Given the description of an element on the screen output the (x, y) to click on. 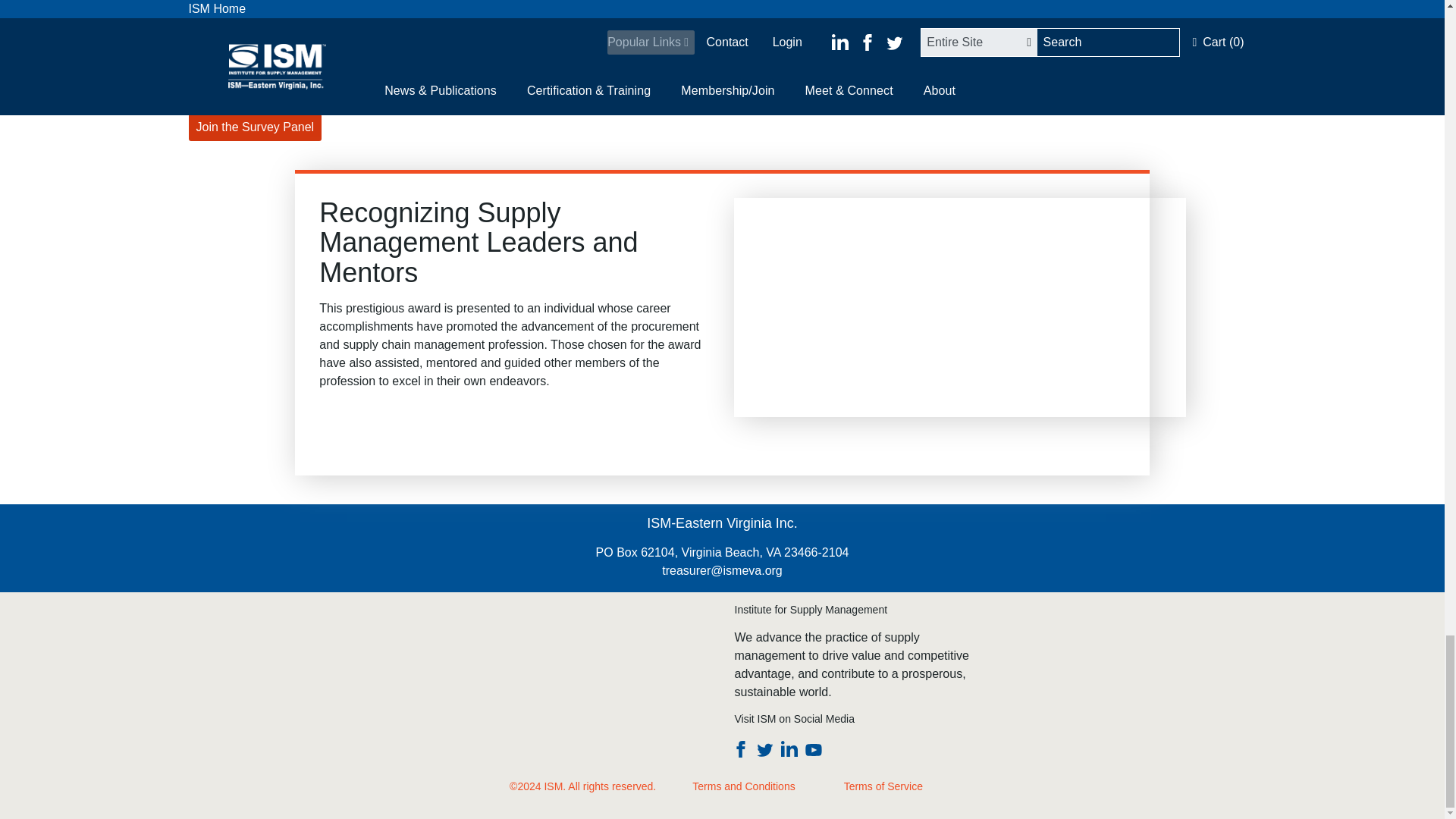
YouTube video player (959, 307)
